Given the description of an element on the screen output the (x, y) to click on. 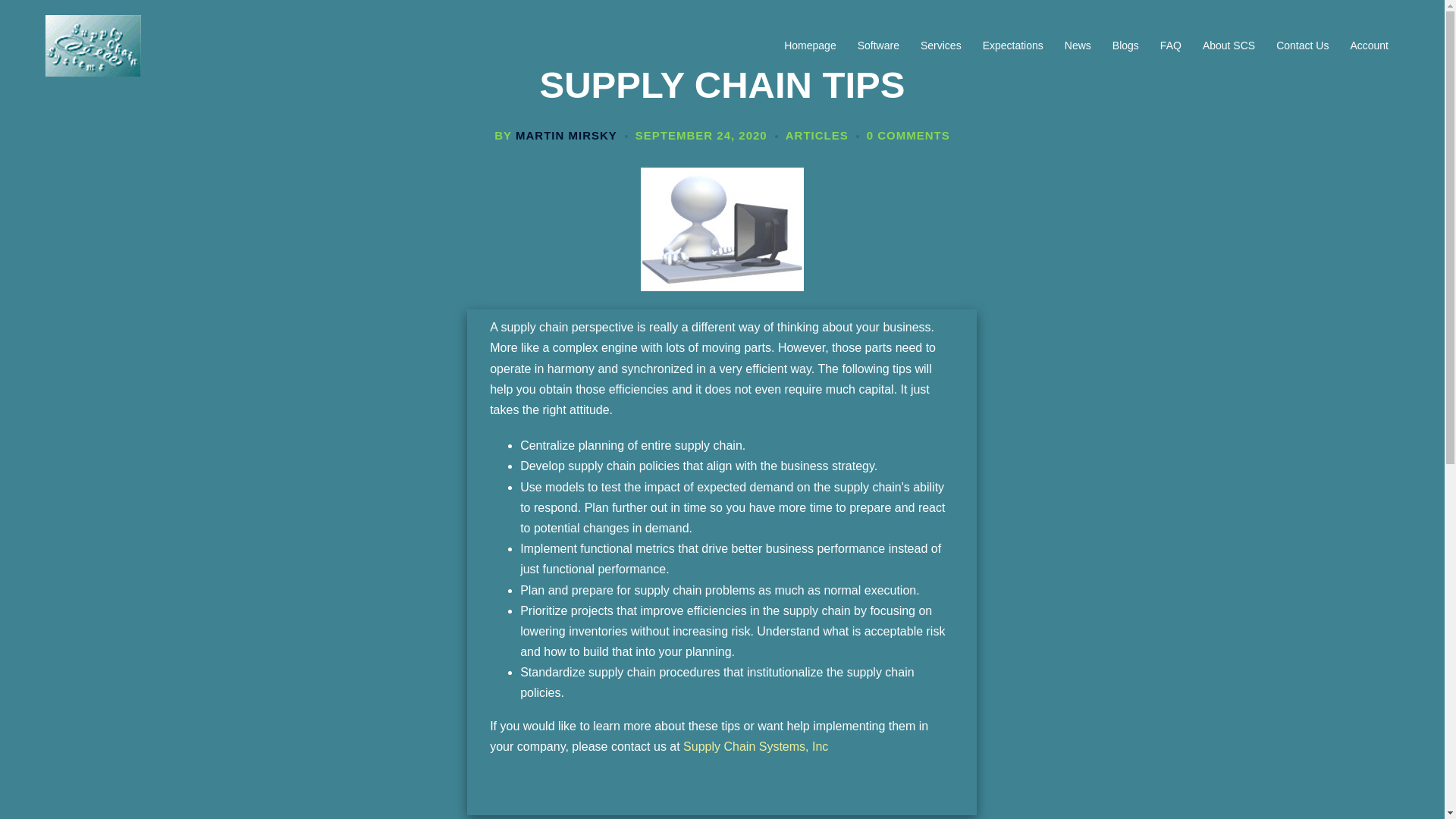
Services (940, 45)
ARTICLES (817, 134)
Supply Chain Systems, Inc (755, 746)
0 COMMENTS (908, 134)
Expectations (1012, 45)
Supply Chain Systems Inc. (93, 44)
Homepage (809, 45)
Contact Us (1301, 45)
FAQ (1170, 45)
Software (878, 45)
